Given the description of an element on the screen output the (x, y) to click on. 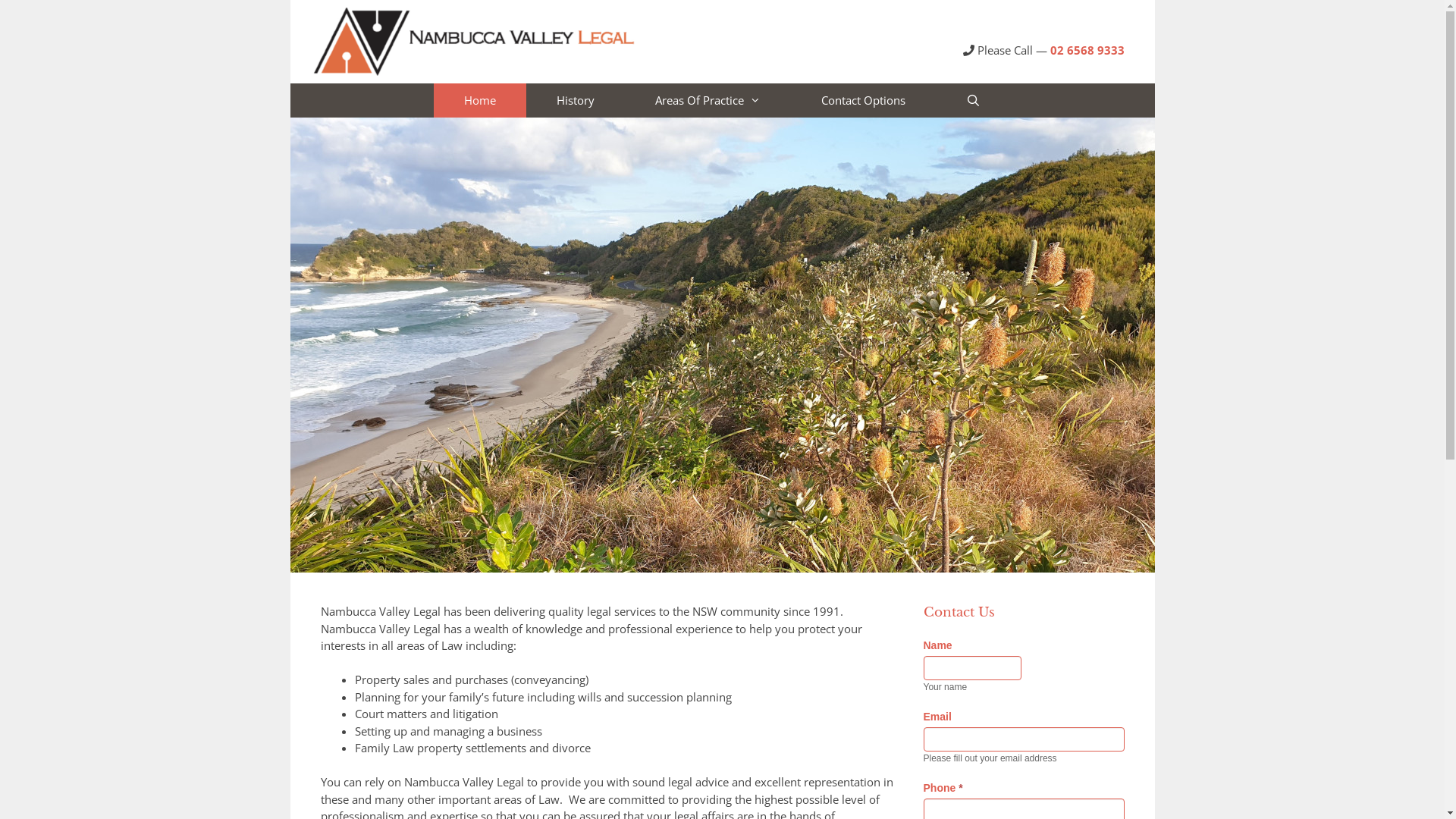
Beilby-Shelly Element type: hover (721, 344)
Home Element type: text (479, 100)
02 6568 9333 Element type: text (1086, 49)
History Element type: text (575, 100)
Areas Of Practice Element type: text (707, 100)
Contact Options Element type: text (862, 100)
